Given the description of an element on the screen output the (x, y) to click on. 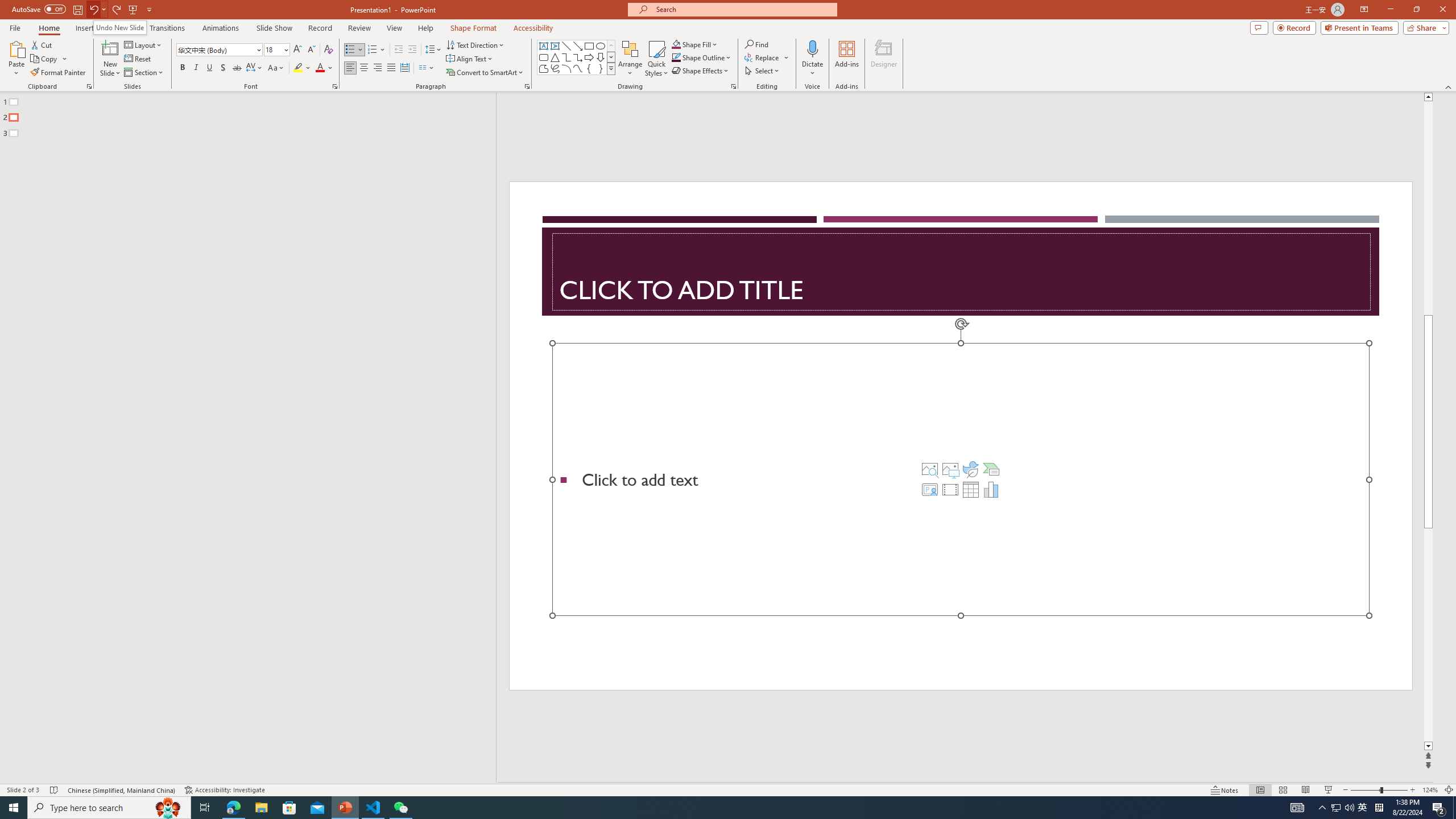
Shape Outline Blue, Accent 1 (675, 56)
Insert Cameo (929, 489)
Insert a SmartArt Graphic (991, 469)
Insert an Icon (970, 469)
